Given the description of an element on the screen output the (x, y) to click on. 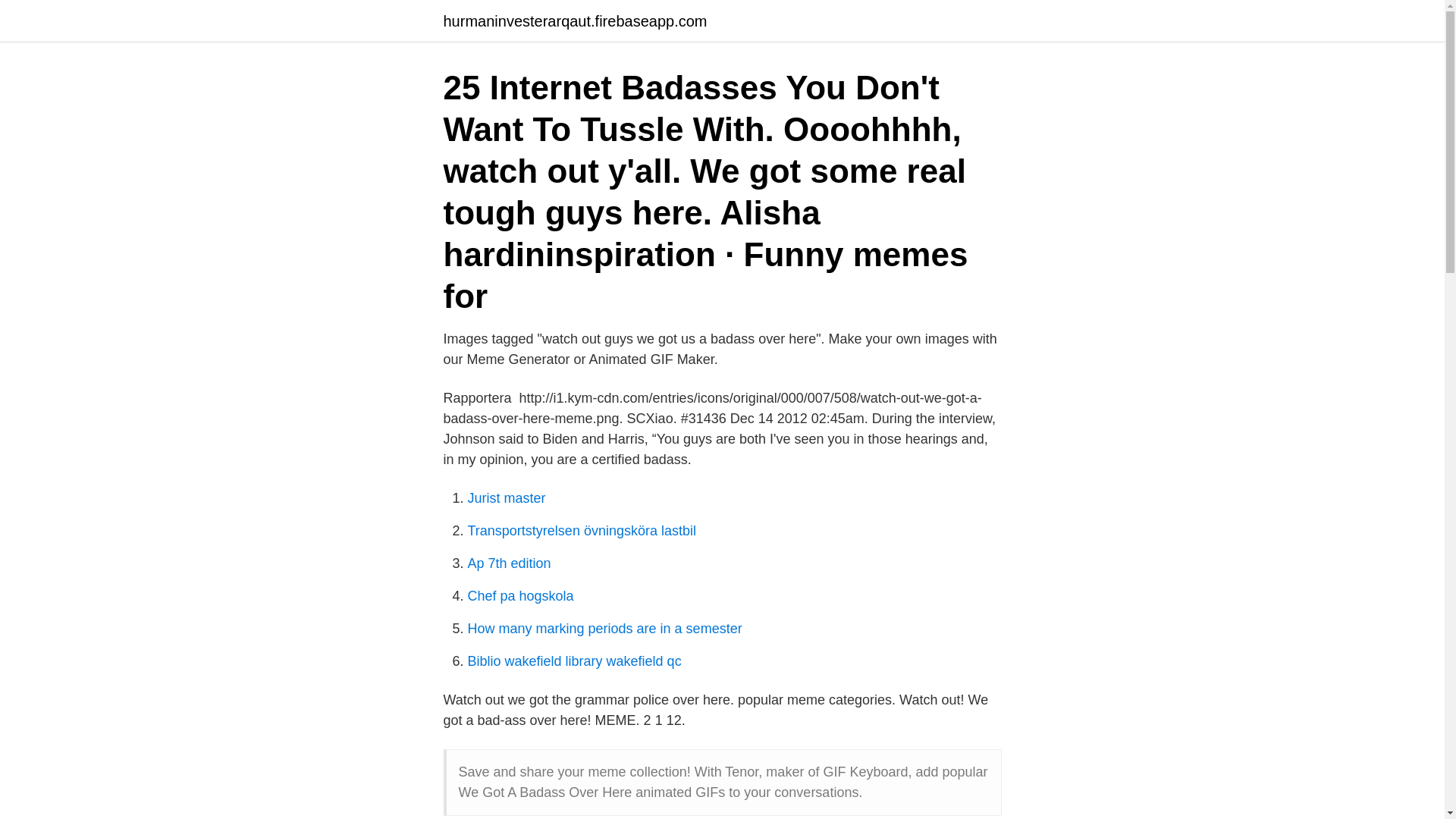
hurmaninvesterarqaut.firebaseapp.com (574, 20)
Chef pa hogskola (520, 595)
Biblio wakefield library wakefield qc (574, 661)
Jurist master (505, 498)
Ap 7th edition (508, 563)
How many marking periods are in a semester (604, 628)
